Given the description of an element on the screen output the (x, y) to click on. 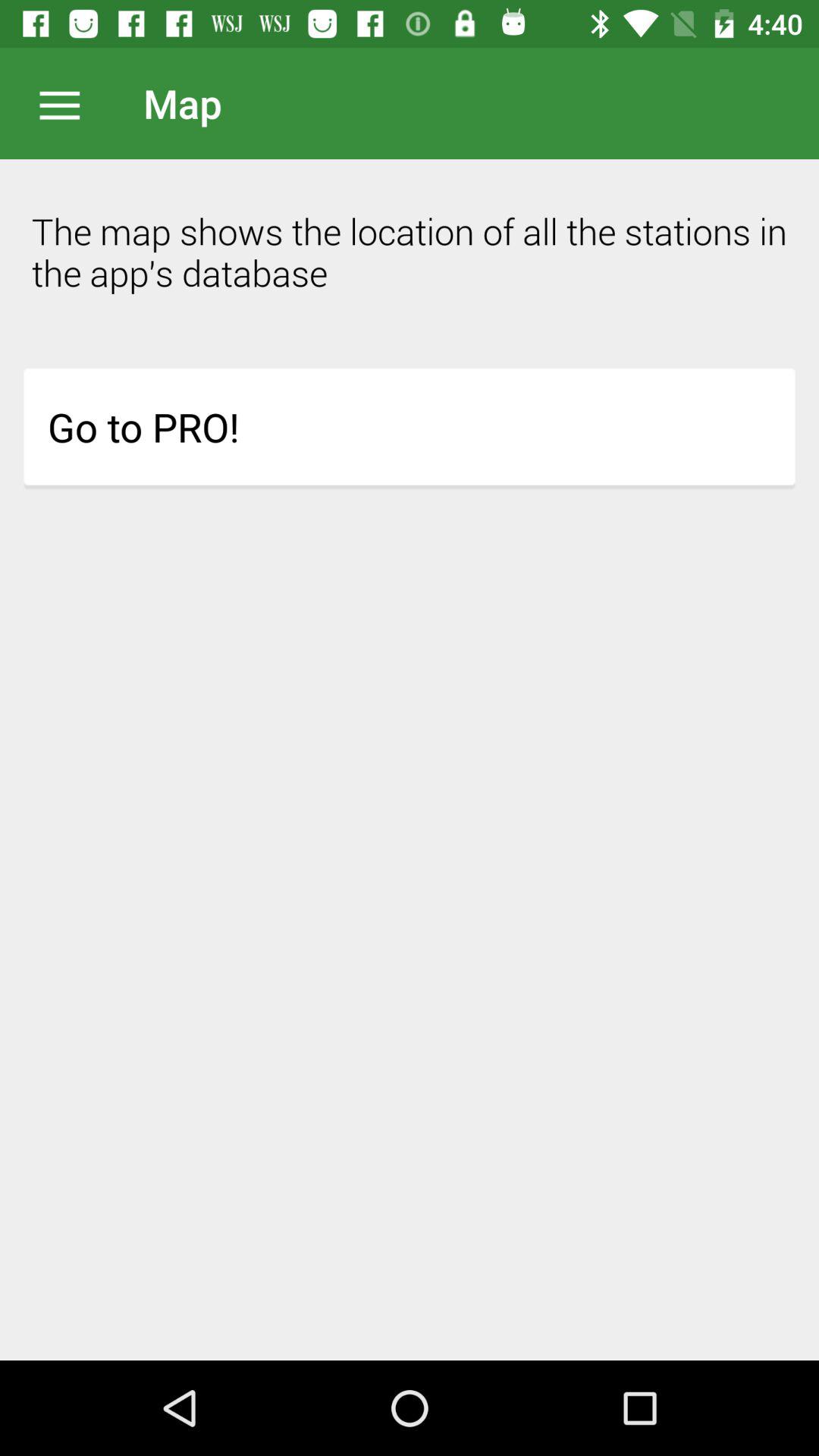
open the menu (67, 103)
